Given the description of an element on the screen output the (x, y) to click on. 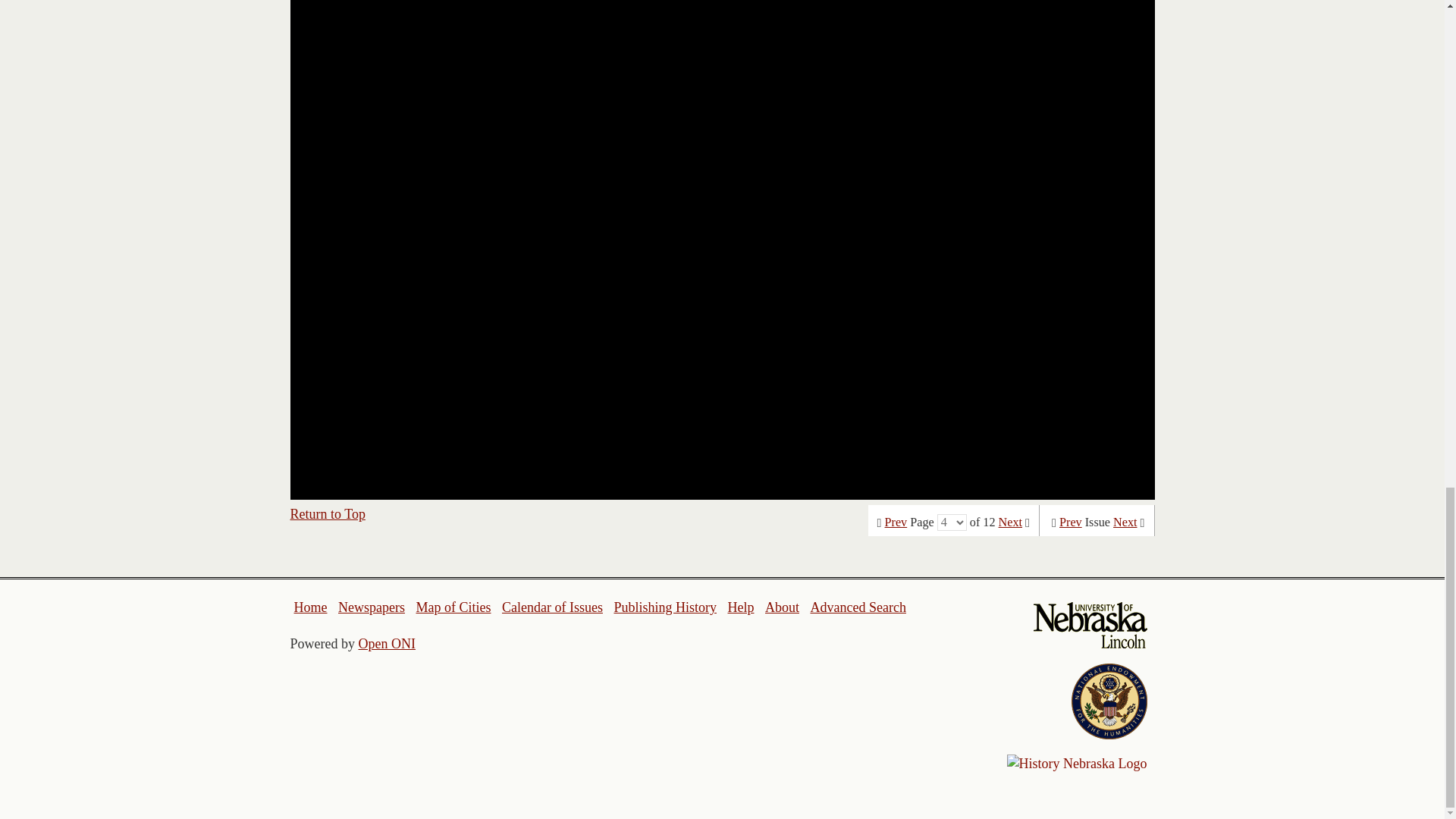
Newspapers (370, 607)
About (782, 607)
Return to Top (327, 513)
Publishing History (664, 607)
Next (1010, 522)
Home (310, 607)
Map of Cities (452, 607)
Help (740, 607)
Prev (1070, 522)
Open ONI (386, 643)
